Given the description of an element on the screen output the (x, y) to click on. 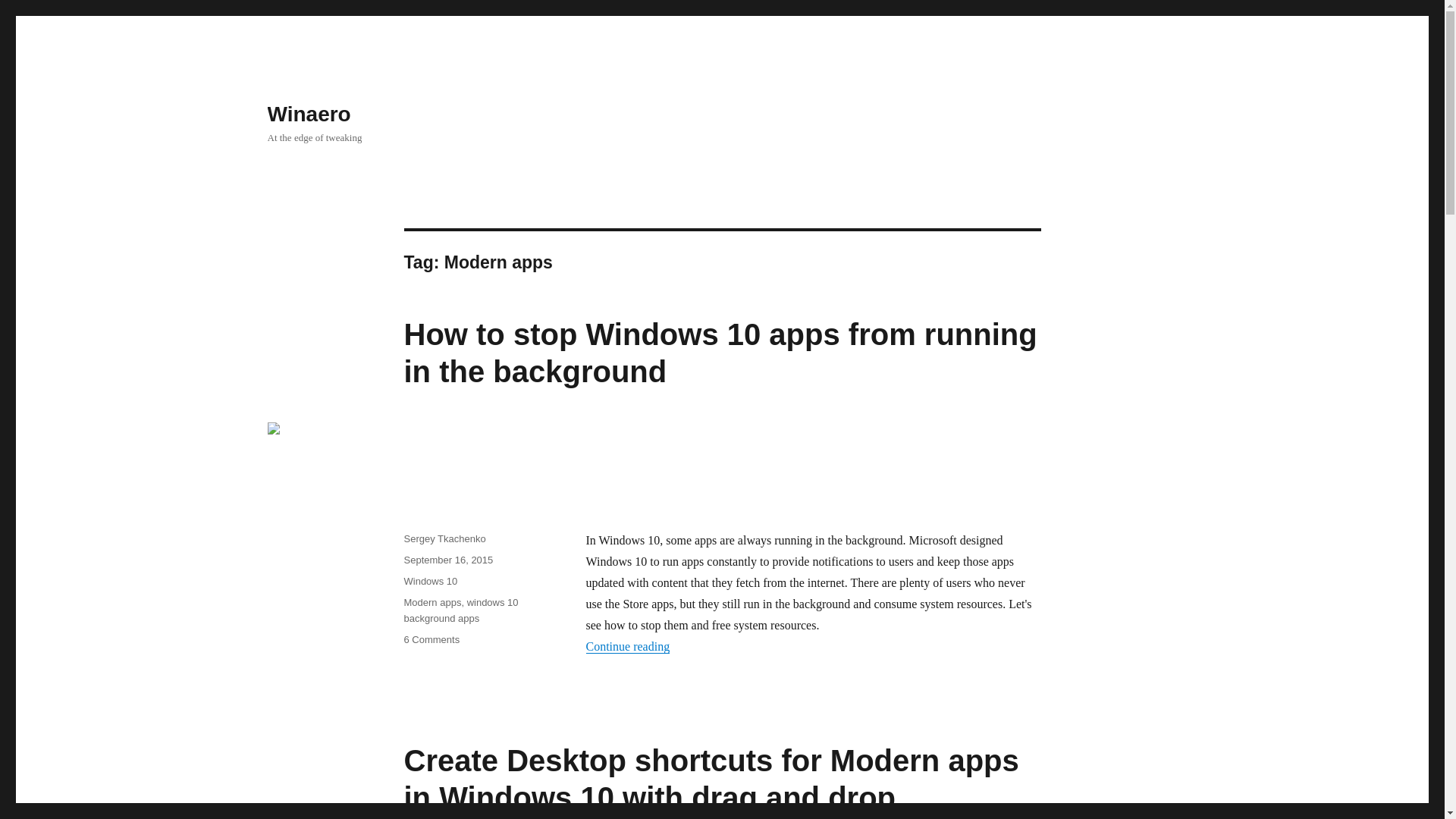
Sergey Tkachenko (443, 538)
Windows 10 (430, 581)
September 16, 2015 (448, 559)
Modern apps (432, 602)
How to stop Windows 10 apps from running in the background (719, 352)
Winaero (308, 114)
windows 10 background apps (460, 610)
